Given the description of an element on the screen output the (x, y) to click on. 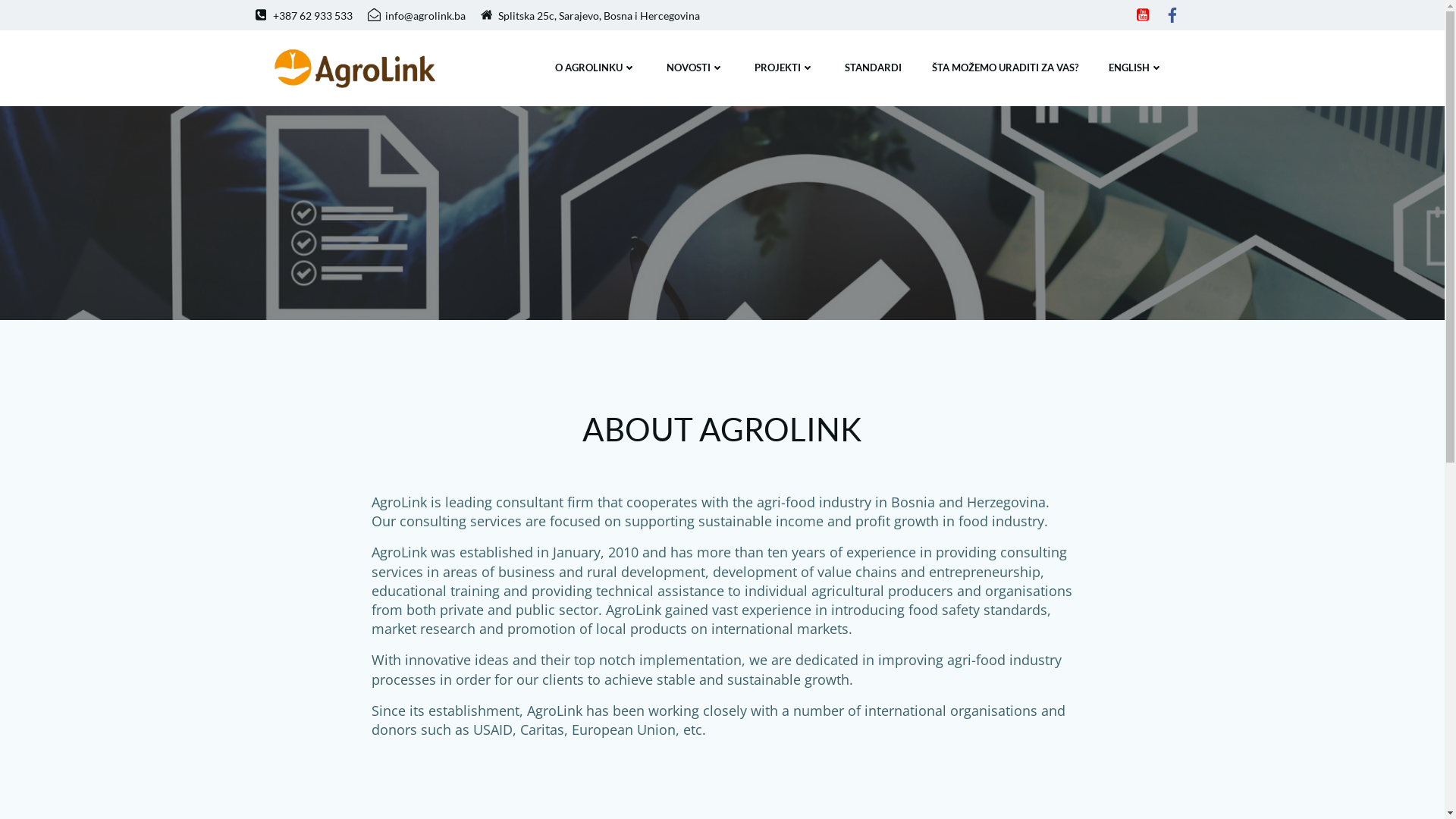
O AGROLINKU Element type: text (595, 67)
NOVOSTI Element type: text (694, 67)
+387 62 933 533 Element type: text (302, 14)
PROJEKTI Element type: text (783, 67)
ENGLISH Element type: text (1135, 67)
STANDARDI Element type: text (872, 67)
info@agrolink.ba Element type: text (415, 14)
